Given the description of an element on the screen output the (x, y) to click on. 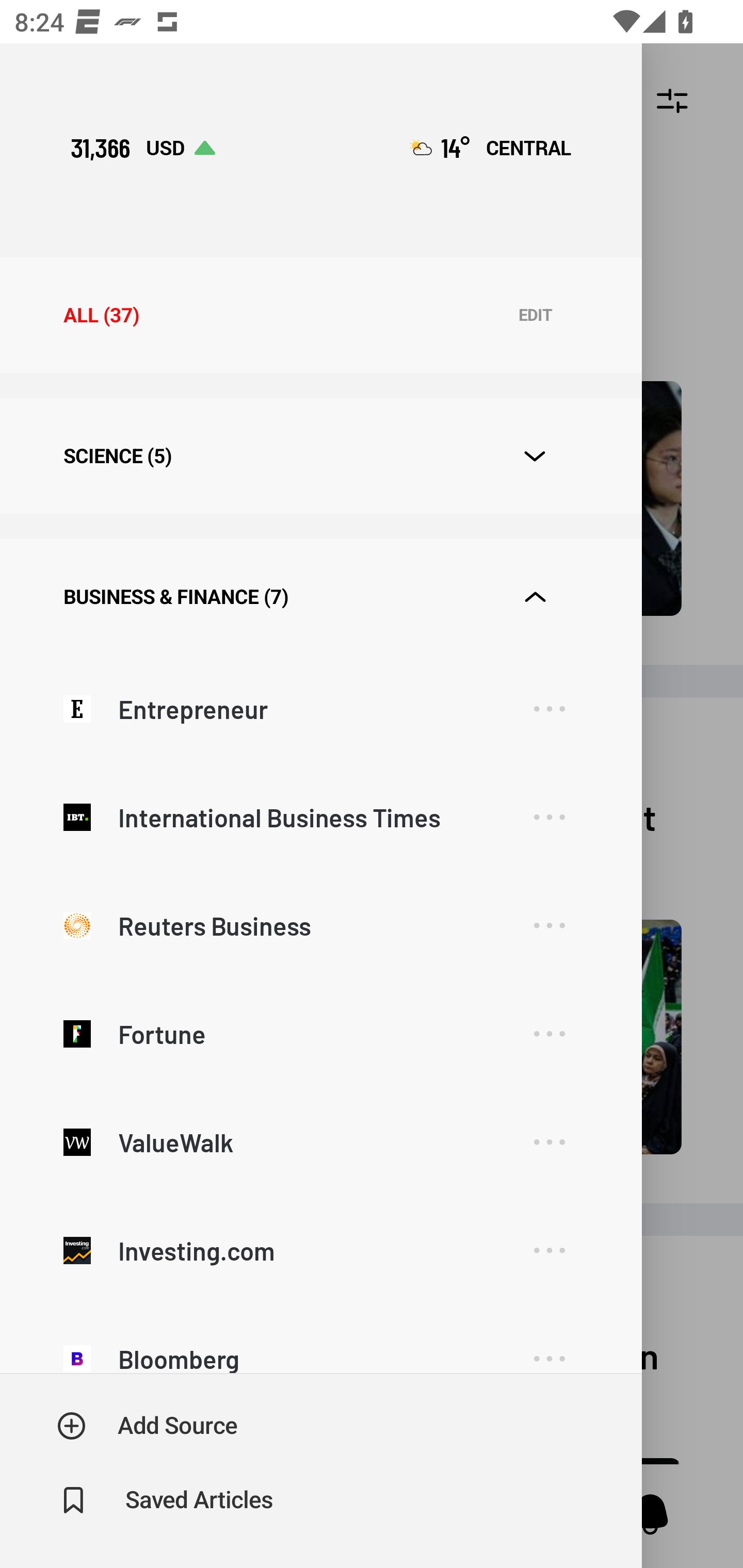
31,366 USD Current State of the Currency (142, 147)
Current State of the Weather 14° CENTRAL (490, 147)
ALL  (37) EDIT (320, 315)
EDIT (534, 315)
SCIENCE  (5) Expand Button (320, 456)
Expand Button (534, 456)
Expand Button (534, 597)
Writer Logo Entrepreneur More Options (320, 708)
More Options (548, 709)
More Options (548, 817)
Writer Logo Reuters Business More Options (320, 925)
More Options (548, 925)
Writer Logo Fortune More Options (320, 1034)
More Options (548, 1033)
Writer Logo ValueWalk More Options (320, 1142)
More Options (548, 1142)
Writer Logo Investing.com More Options (320, 1250)
More Options (548, 1250)
Writer Logo Bloomberg More Options (320, 1338)
More Options (548, 1344)
Open Content Store Add Source (147, 1425)
Open Saved News  Saved Articles (166, 1500)
